Given the description of an element on the screen output the (x, y) to click on. 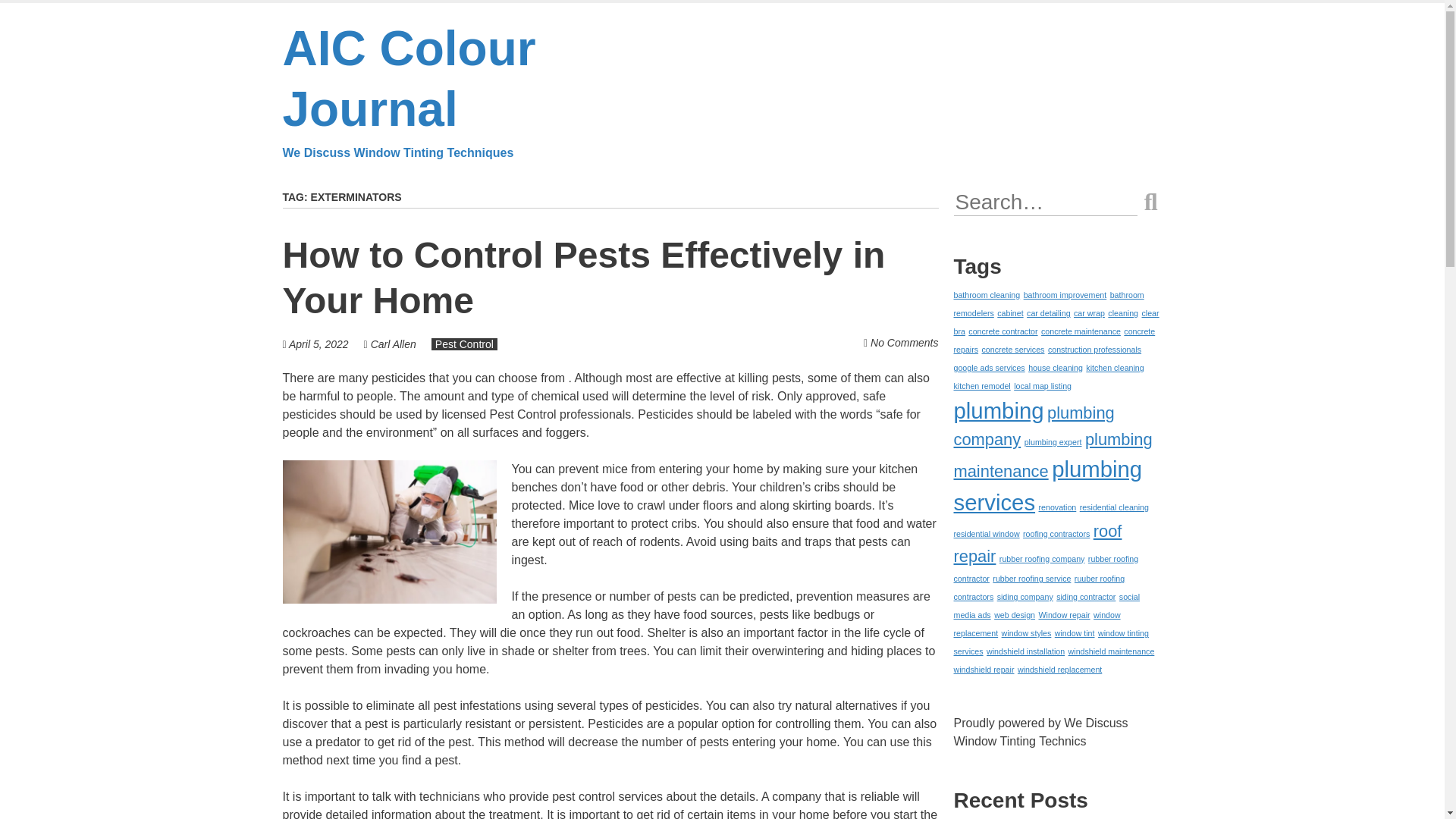
plumbing (998, 410)
Permalink to How to Control Pests Effectively in Your Home (583, 278)
google ads services (989, 367)
renovation (1058, 506)
kitchen cleaning (1114, 367)
April 5, 2022 (318, 344)
How to Control Pests Effectively in Your Home (583, 278)
concrete contractor (1002, 330)
car detailing (1048, 312)
plumbing company (1034, 425)
rubber roofing contractor (1045, 568)
plumbing maintenance (1053, 454)
cleaning (1123, 312)
Carl Allen (393, 344)
clear bra (1055, 321)
